Given the description of an element on the screen output the (x, y) to click on. 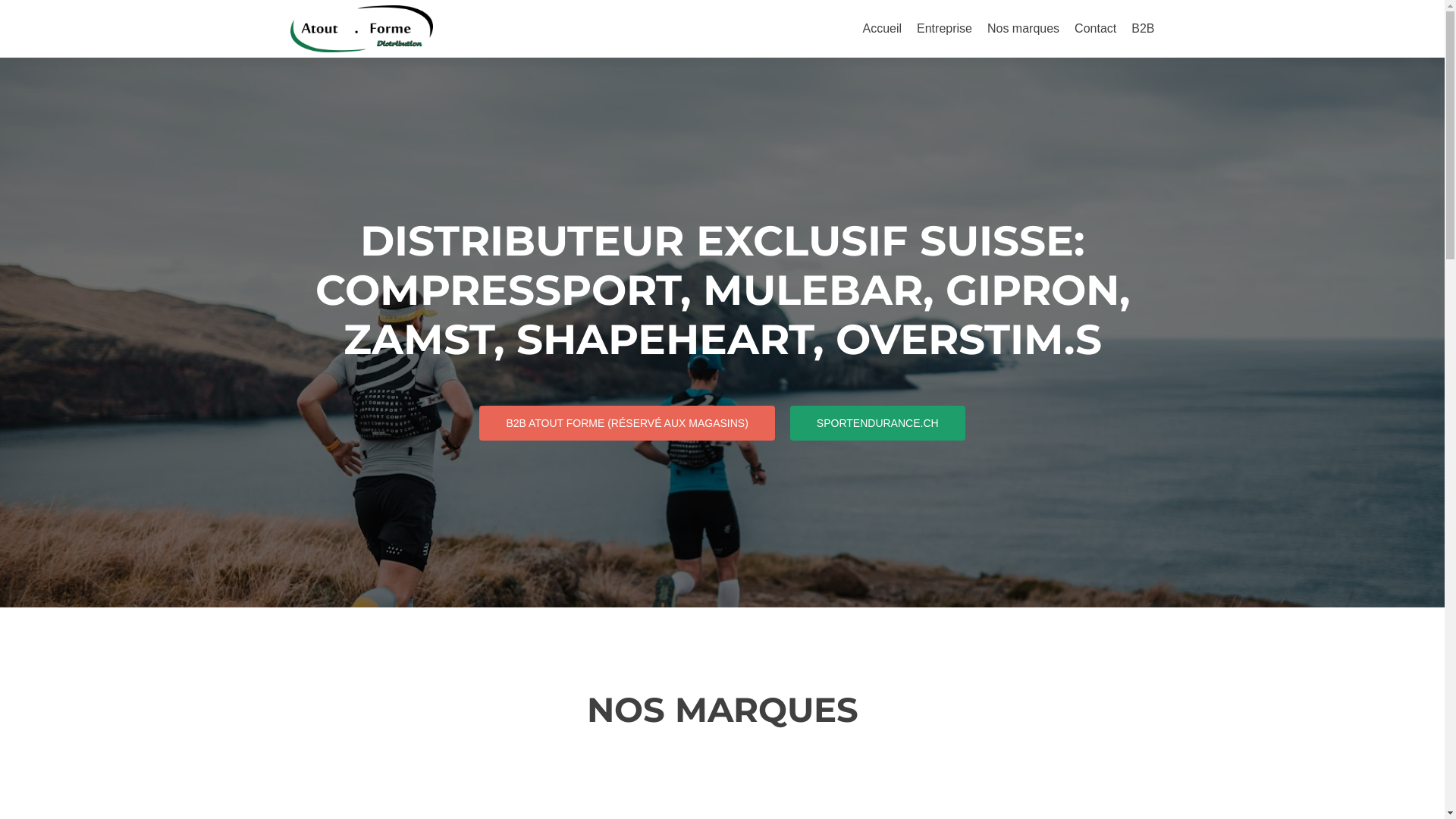
Accueil Element type: text (881, 28)
Nos marques Element type: text (1023, 28)
Entreprise Element type: text (944, 28)
B2B Element type: text (1142, 28)
SPORTENDURANCE.CH Element type: text (877, 422)
Contact Element type: text (1095, 28)
